Given the description of an element on the screen output the (x, y) to click on. 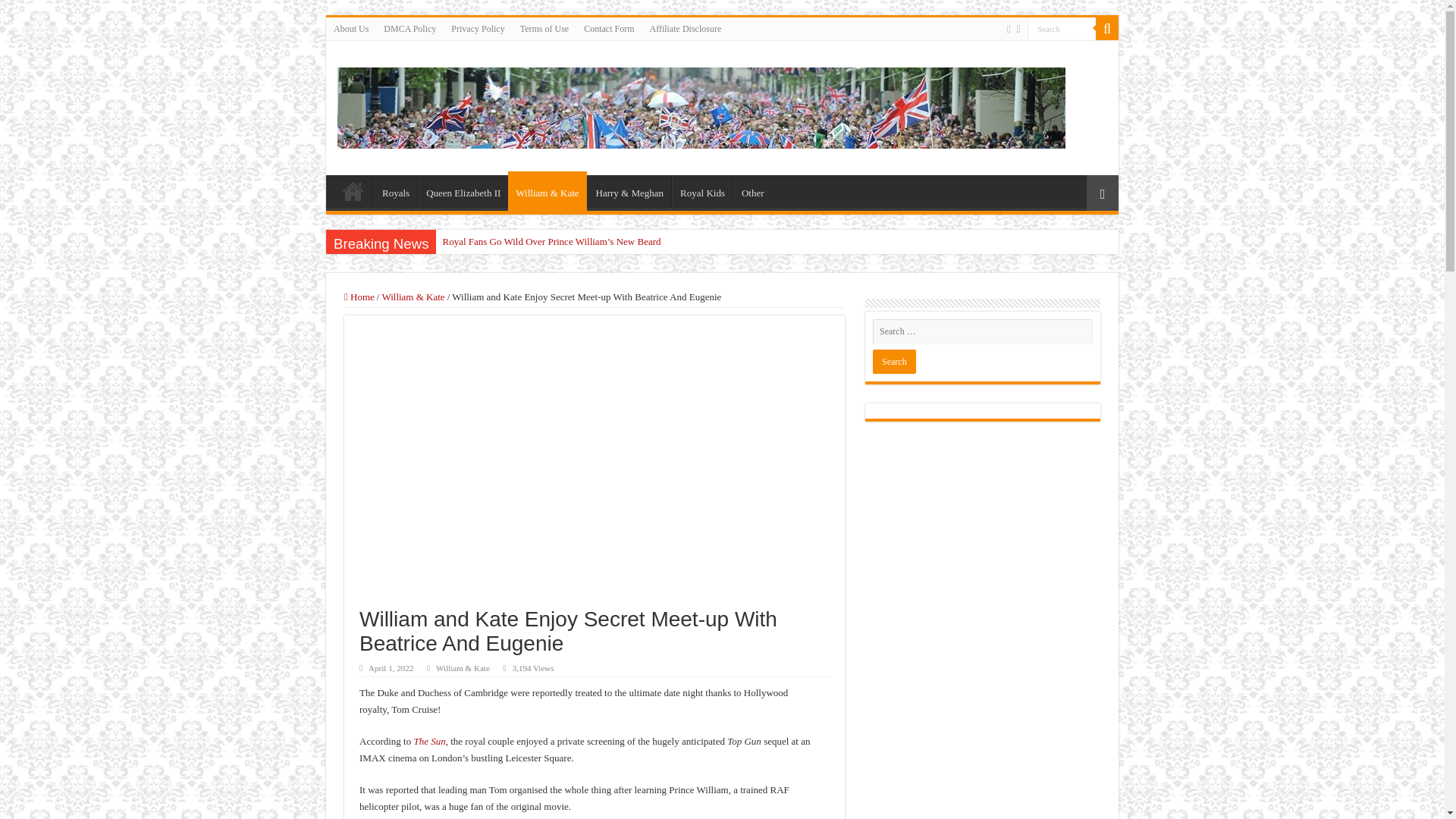
Home (352, 191)
Privacy Policy (478, 28)
Random Article (1102, 192)
The Sun (429, 740)
Search (893, 361)
Search (893, 361)
Royal Kids (701, 191)
Search (1107, 28)
Search (1061, 28)
DMCA Policy (409, 28)
